Given the description of an element on the screen output the (x, y) to click on. 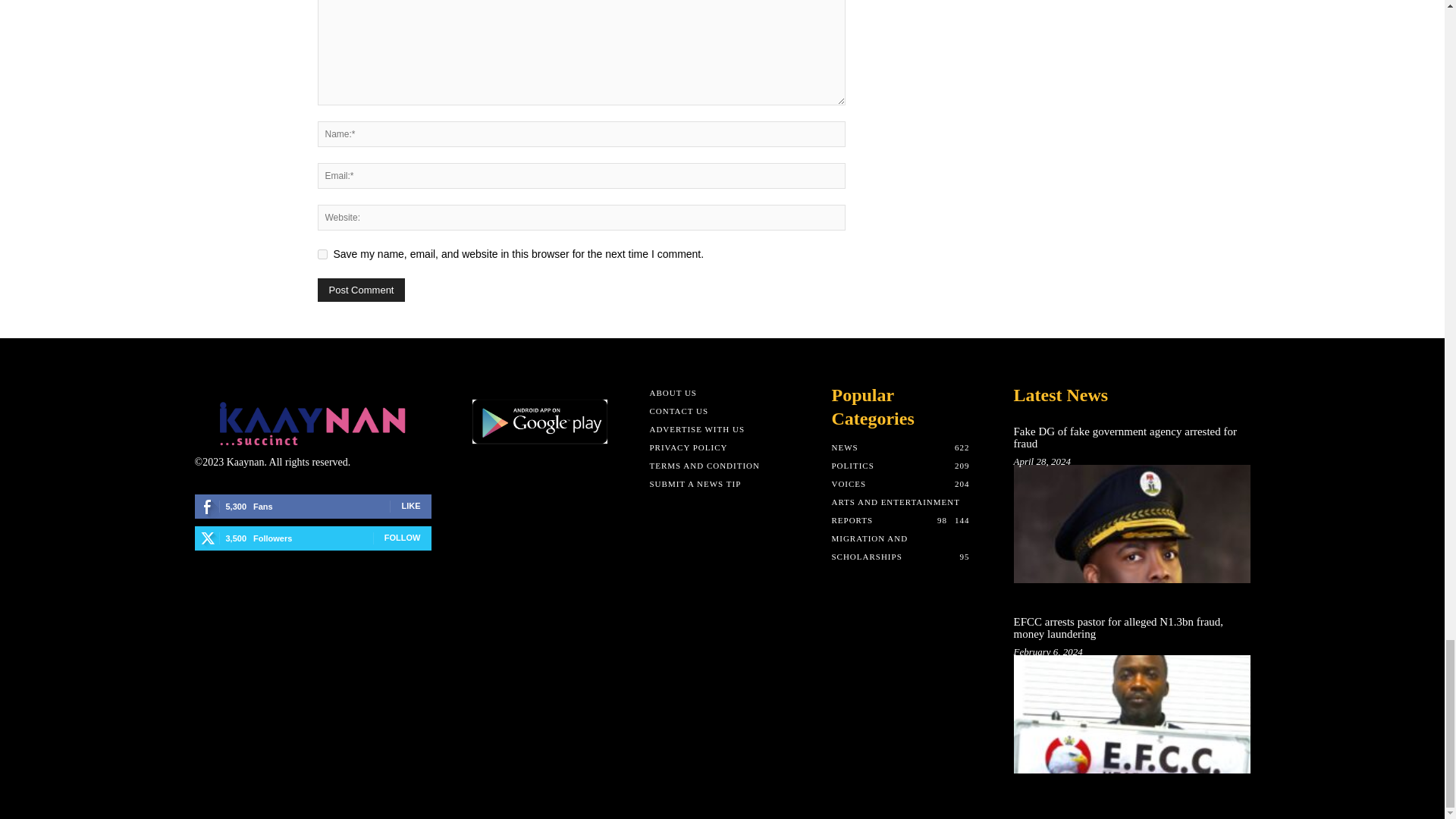
Post Comment (360, 290)
yes (321, 254)
